Given the description of an element on the screen output the (x, y) to click on. 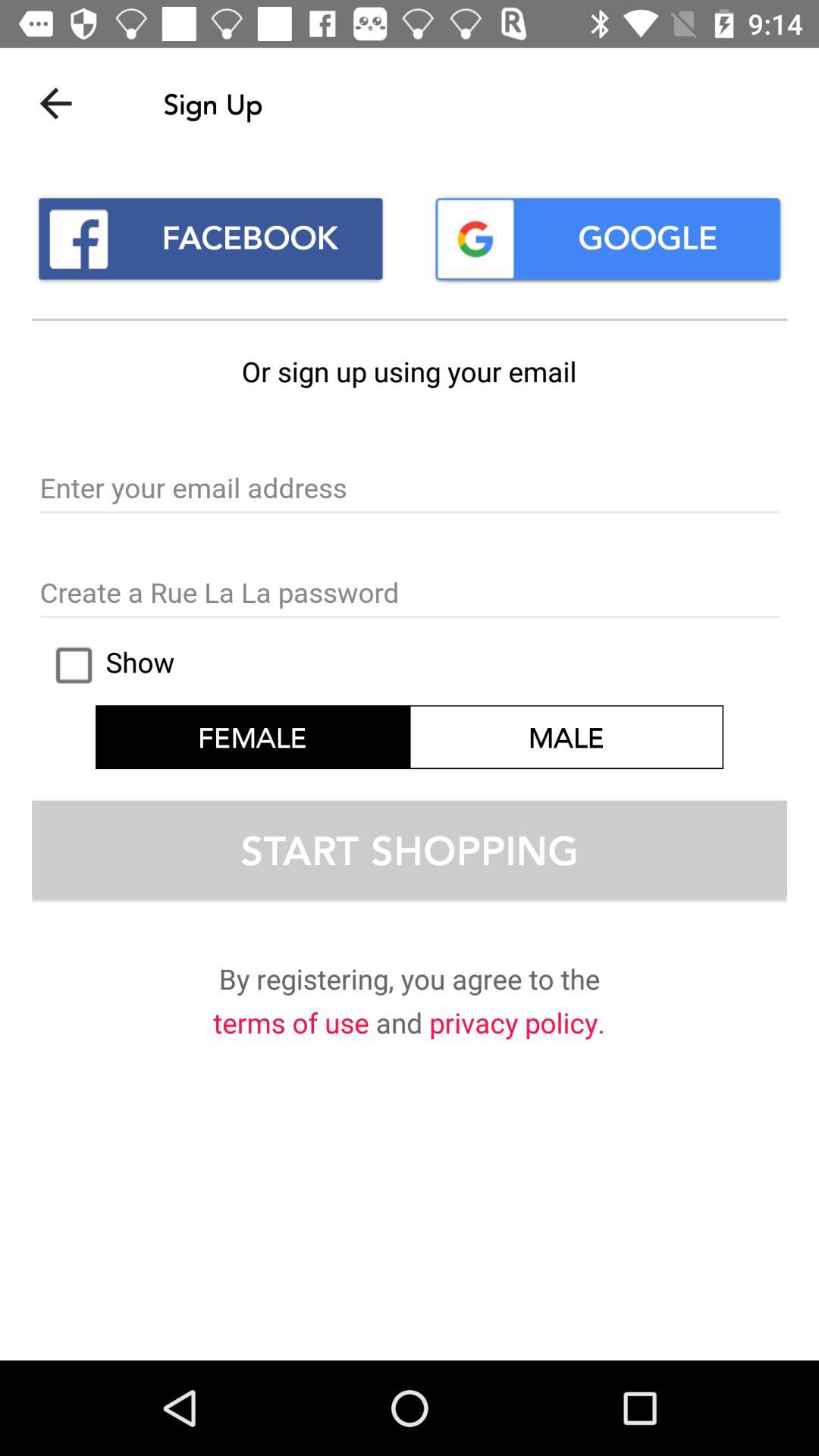
enter your password (409, 593)
